Given the description of an element on the screen output the (x, y) to click on. 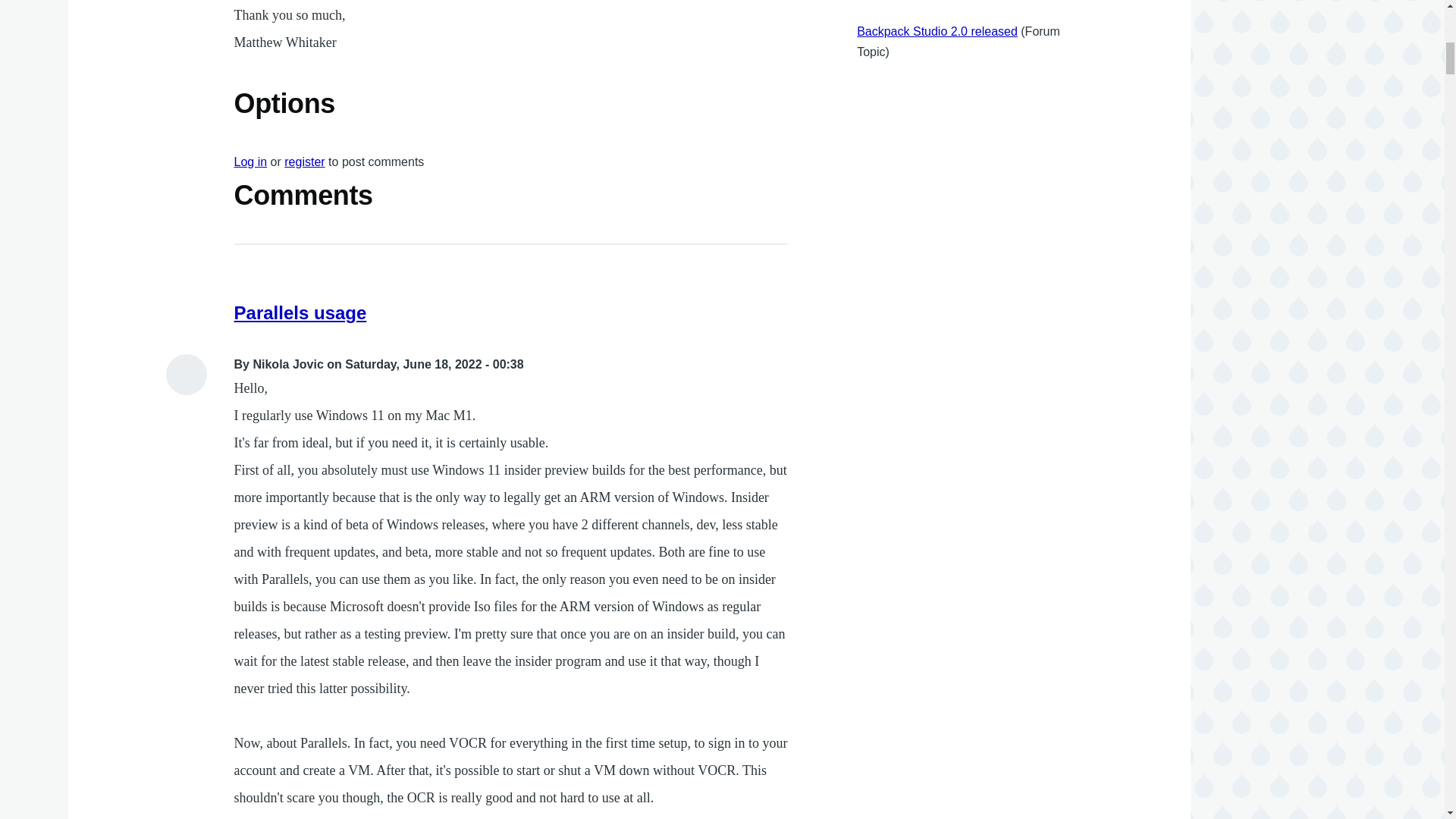
Parallels usage (300, 312)
Log in (250, 161)
register (303, 161)
